Given the description of an element on the screen output the (x, y) to click on. 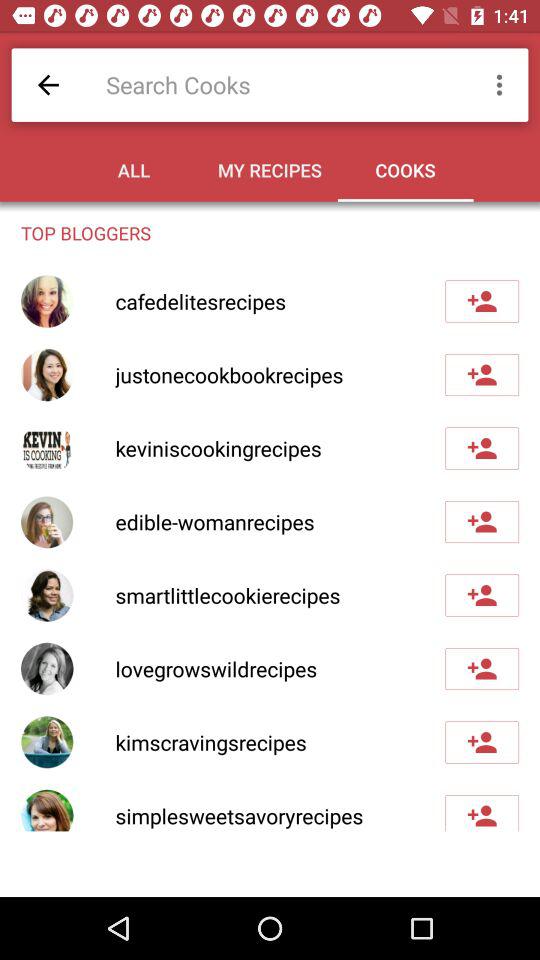
add to contacts (482, 448)
